Given the description of an element on the screen output the (x, y) to click on. 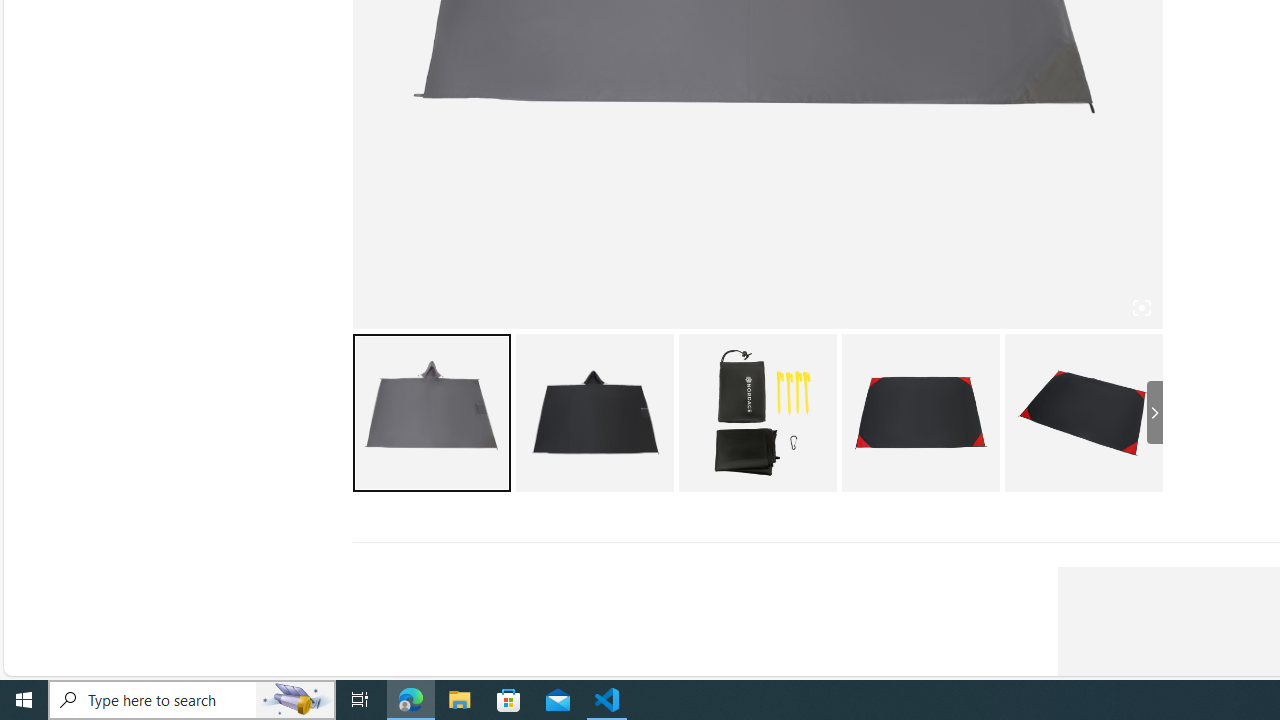
Class: iconic-woothumbs-fullscreen (1140, 307)
